Given the description of an element on the screen output the (x, y) to click on. 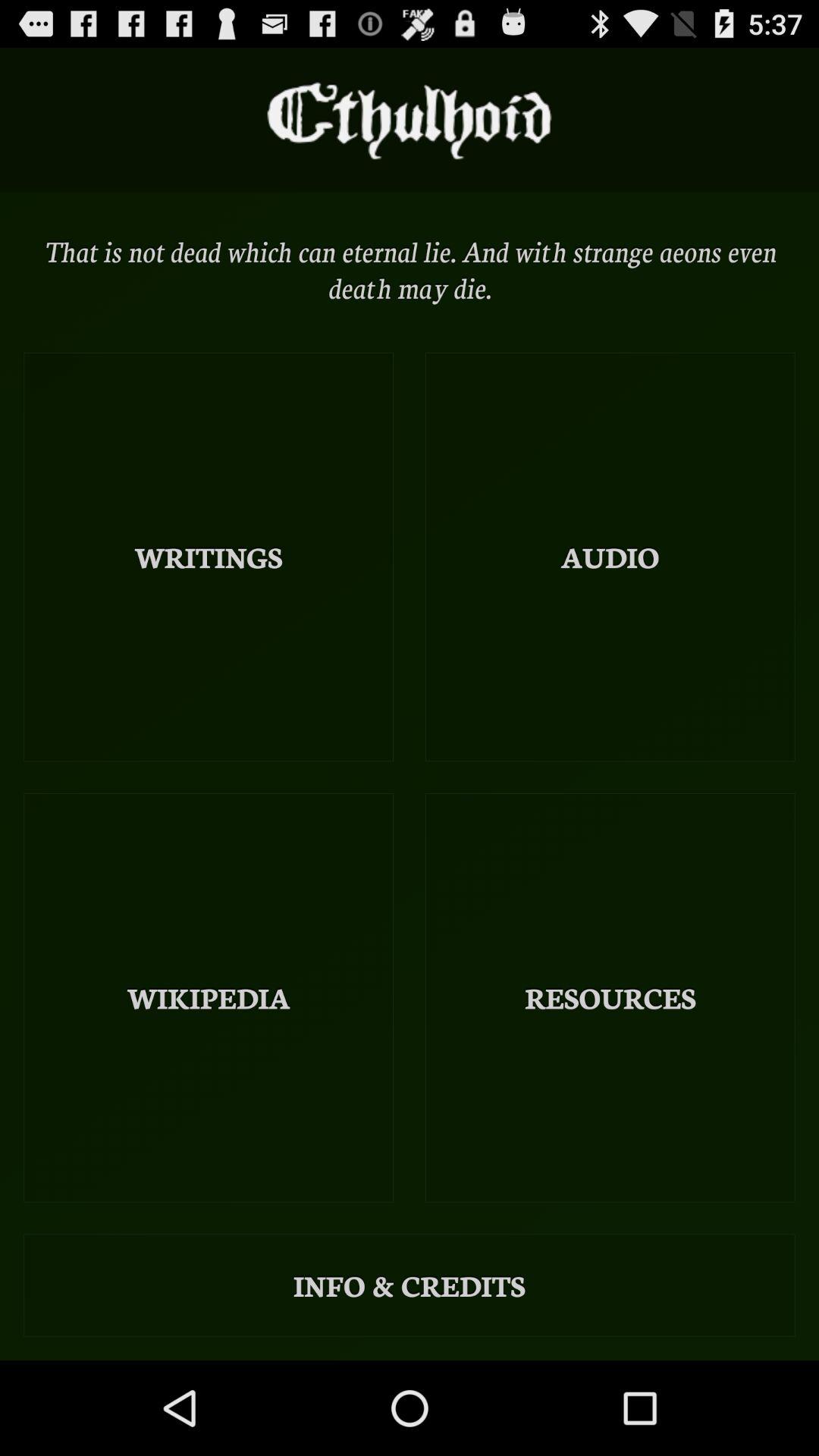
click the item to the right of writings icon (610, 556)
